Given the description of an element on the screen output the (x, y) to click on. 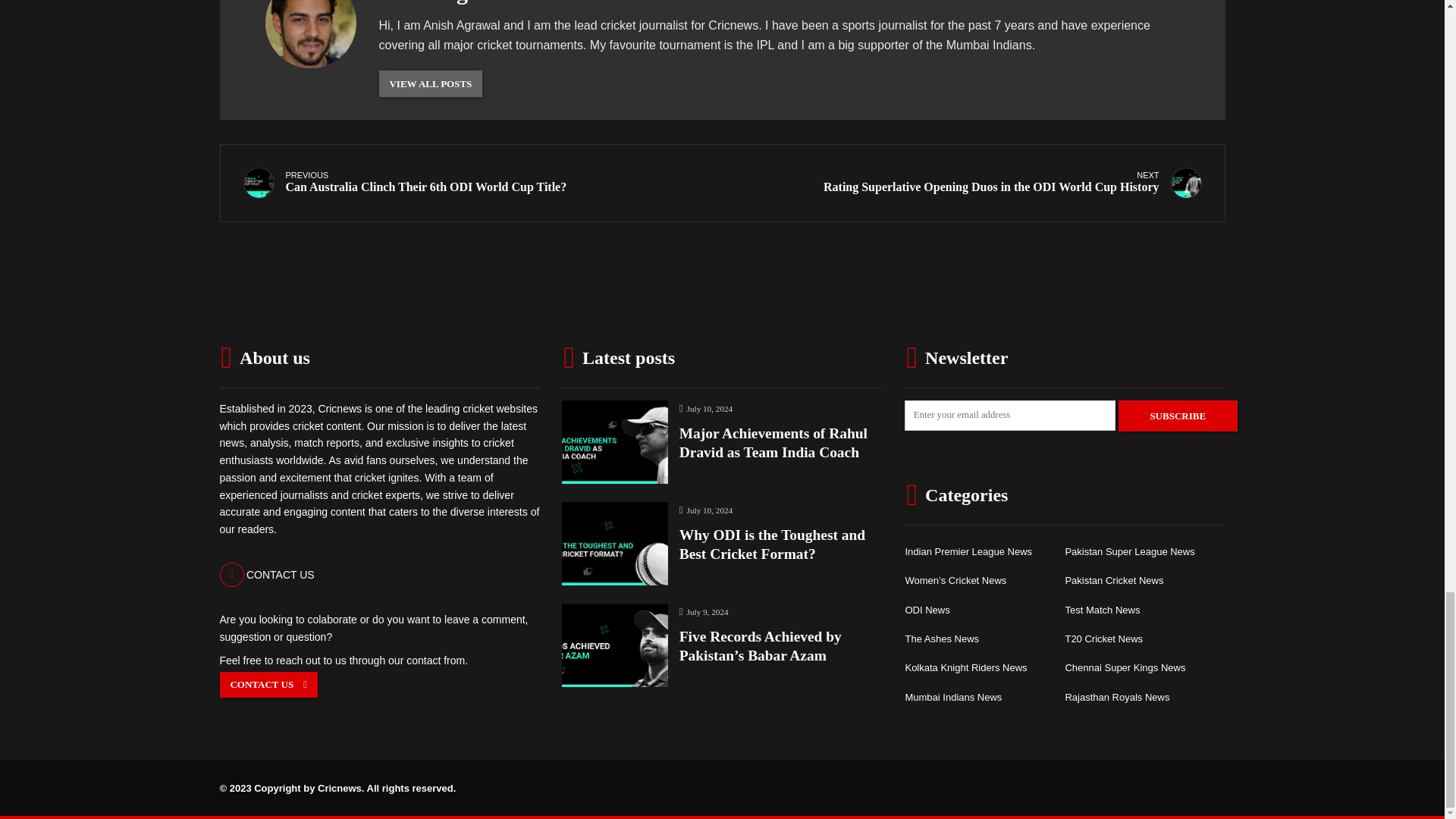
VIEW ALL POSTS (430, 83)
Subscribe (476, 183)
